Given the description of an element on the screen output the (x, y) to click on. 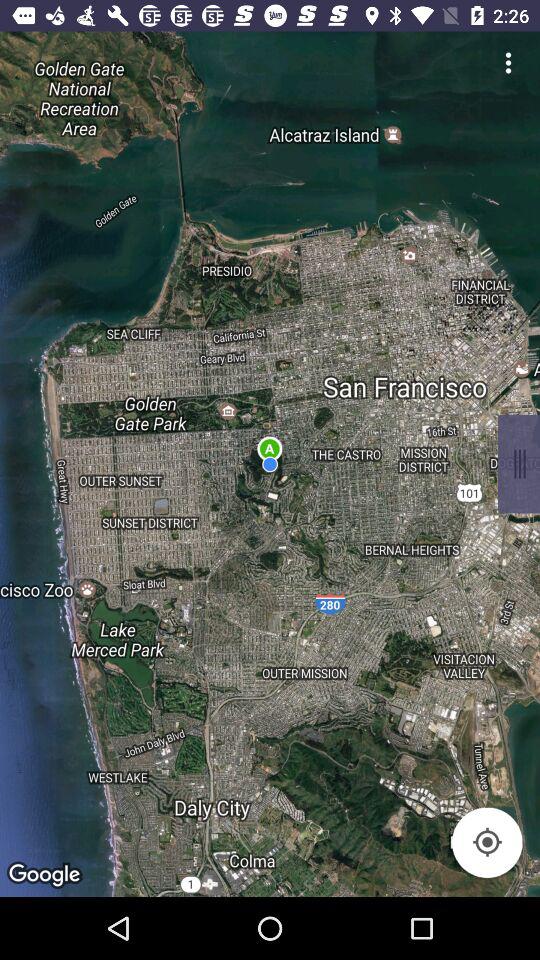
press icon at the top right corner (508, 62)
